Given the description of an element on the screen output the (x, y) to click on. 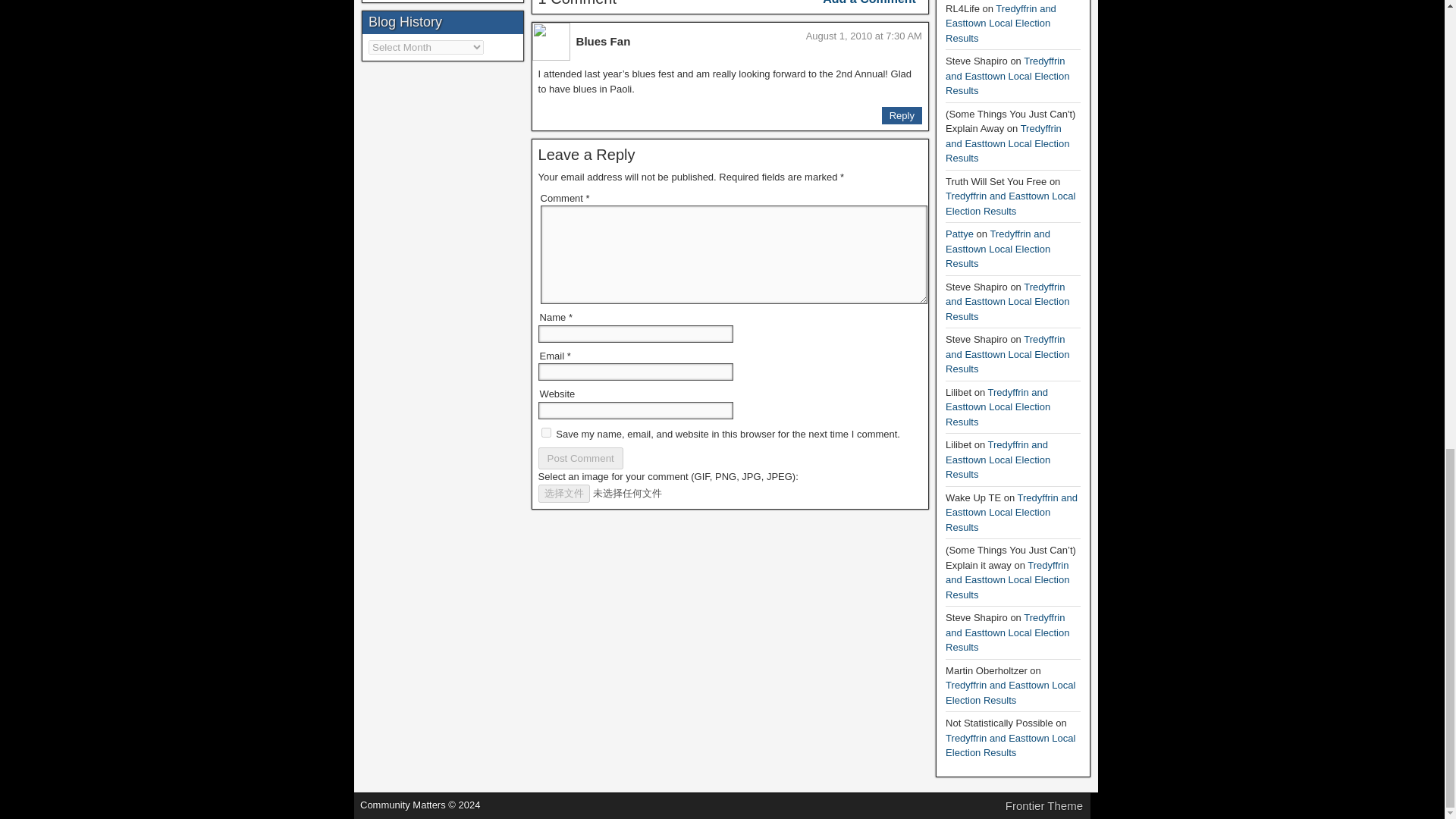
August 1, 2010 at 7:30 AM (863, 35)
Add a Comment (868, 3)
Post Comment (580, 458)
Reply (901, 116)
Post Comment (580, 458)
yes (546, 432)
